Given the description of an element on the screen output the (x, y) to click on. 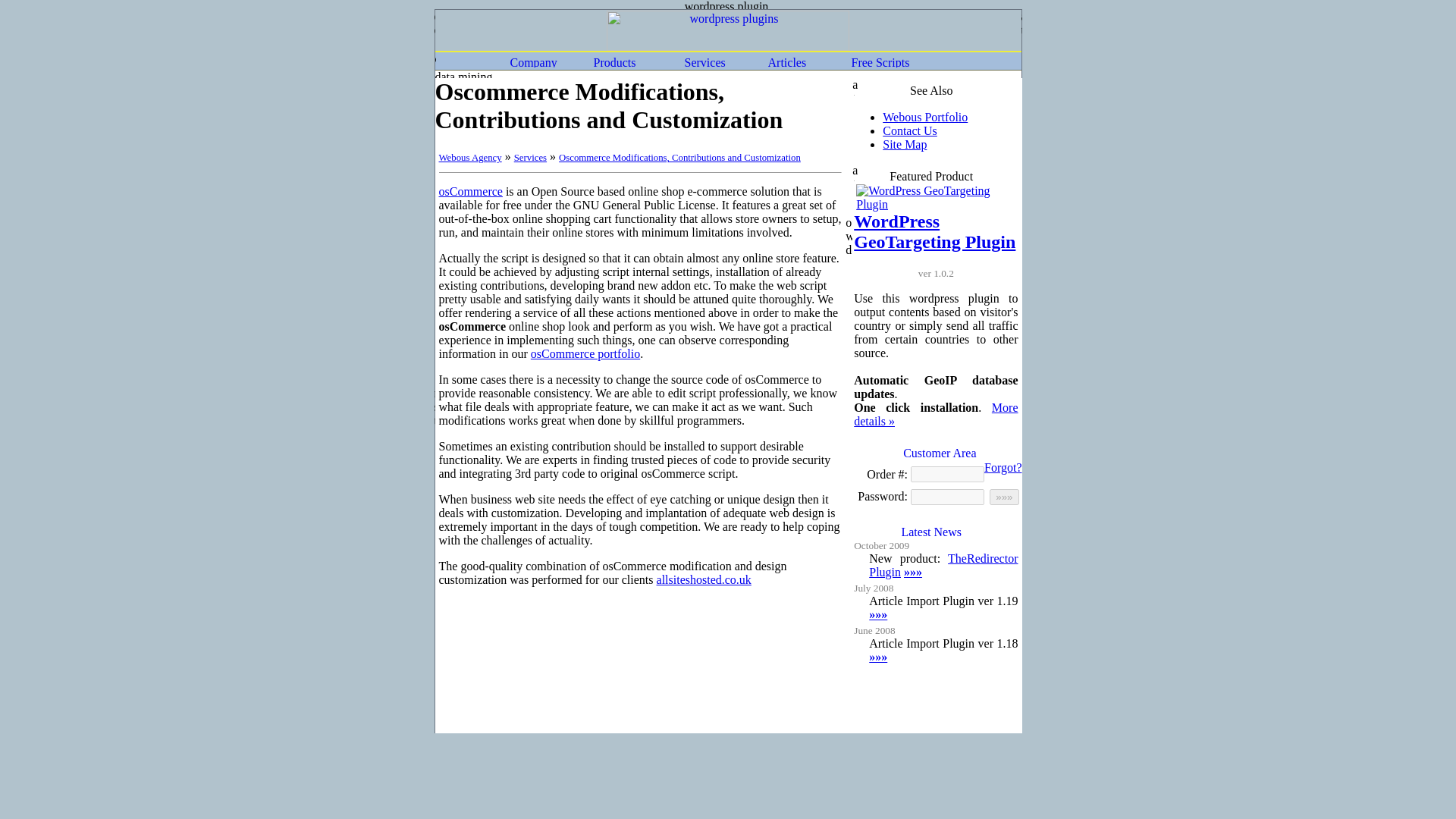
Forgot? (1003, 467)
allsiteshosted.co.uk (703, 579)
Site Map (904, 144)
WordPress GeoTargeting Plugin (933, 231)
osCommerce portfolio (585, 353)
osCommerce (470, 191)
TheRedirector Plugin (943, 565)
Contact Us (909, 130)
Webous Agency (469, 157)
Services (530, 157)
Oscommerce Modifications, Contributions and Customization (679, 157)
Webous Portfolio (925, 116)
